Given the description of an element on the screen output the (x, y) to click on. 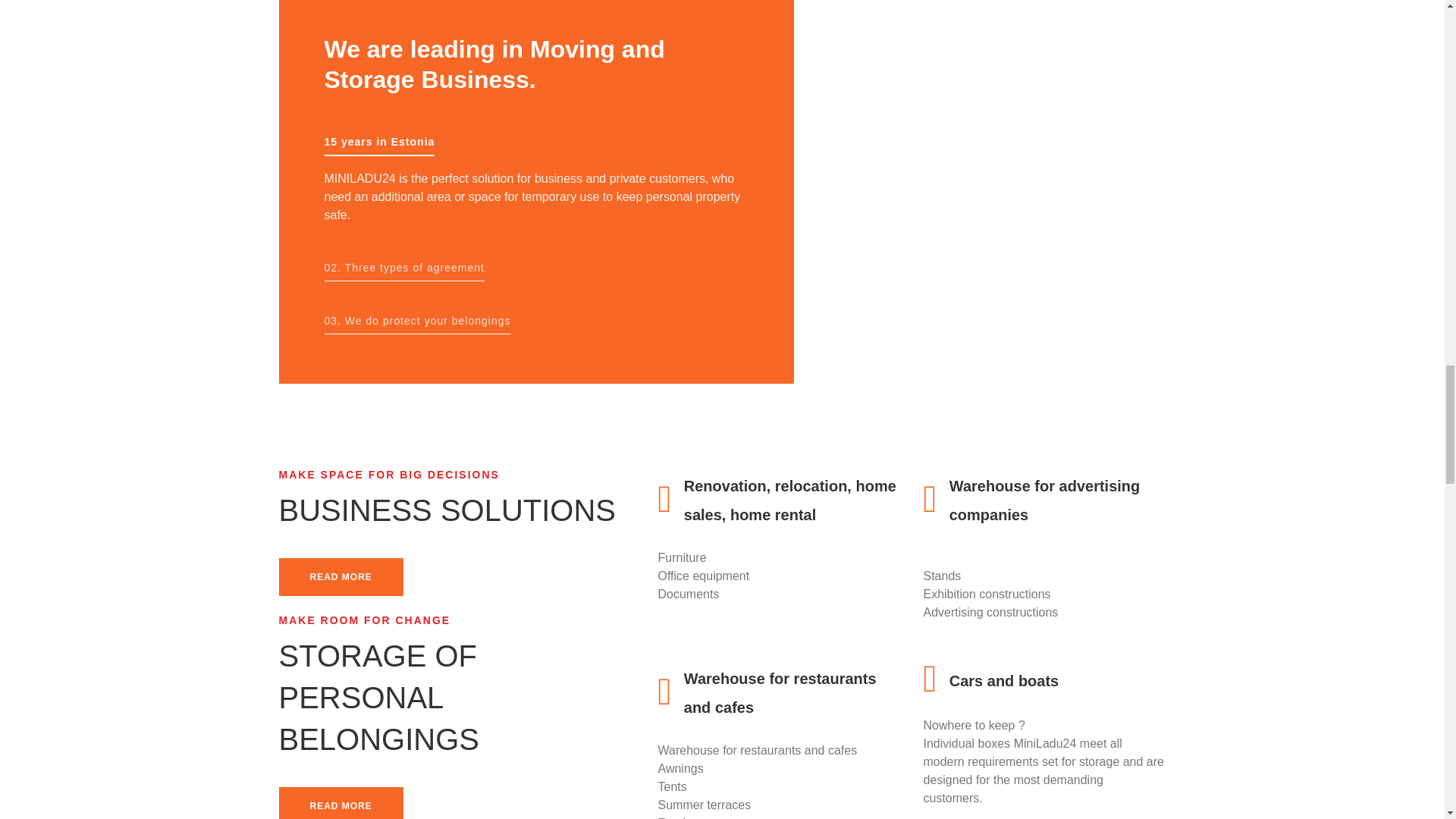
15 years in Estonia (379, 145)
03. We do protect your belongings (417, 324)
READ MORE (341, 803)
READ MORE (341, 576)
02. Three types of agreement (404, 271)
